Given the description of an element on the screen output the (x, y) to click on. 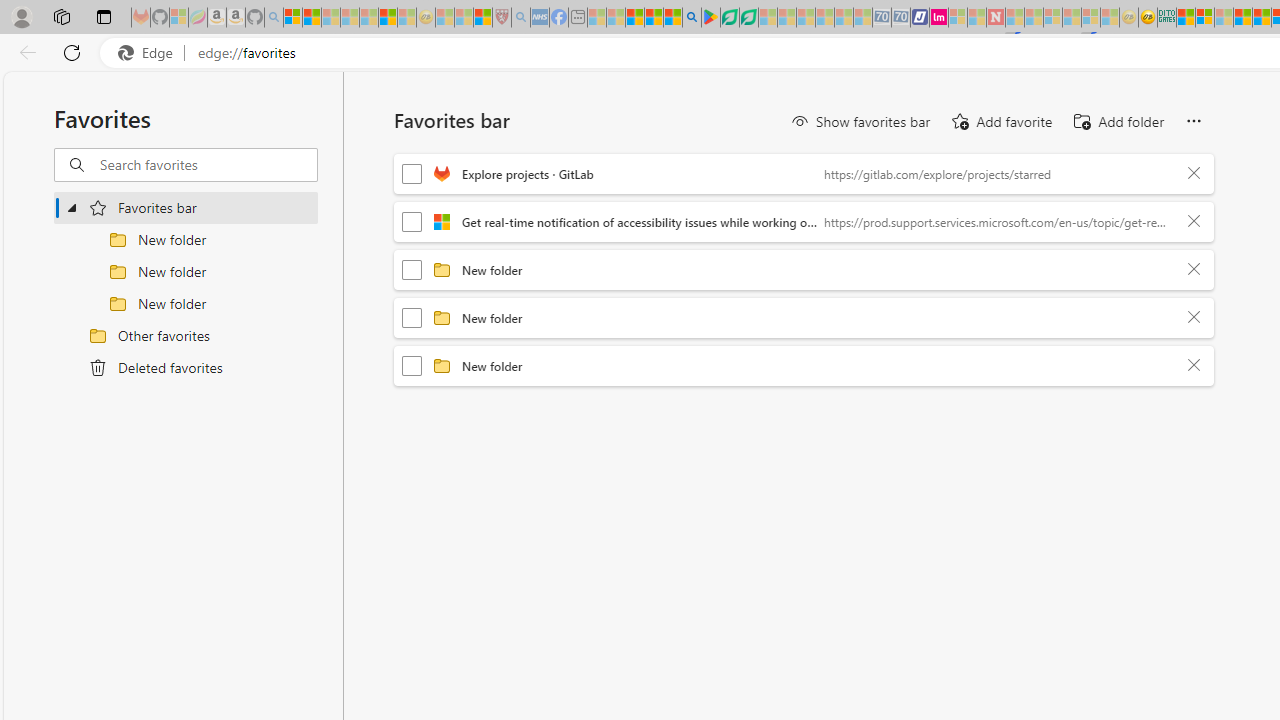
Add folder (1117, 121)
Pets - MSN (654, 17)
Add favorite (1000, 121)
Delete (1194, 366)
